Given the description of an element on the screen output the (x, y) to click on. 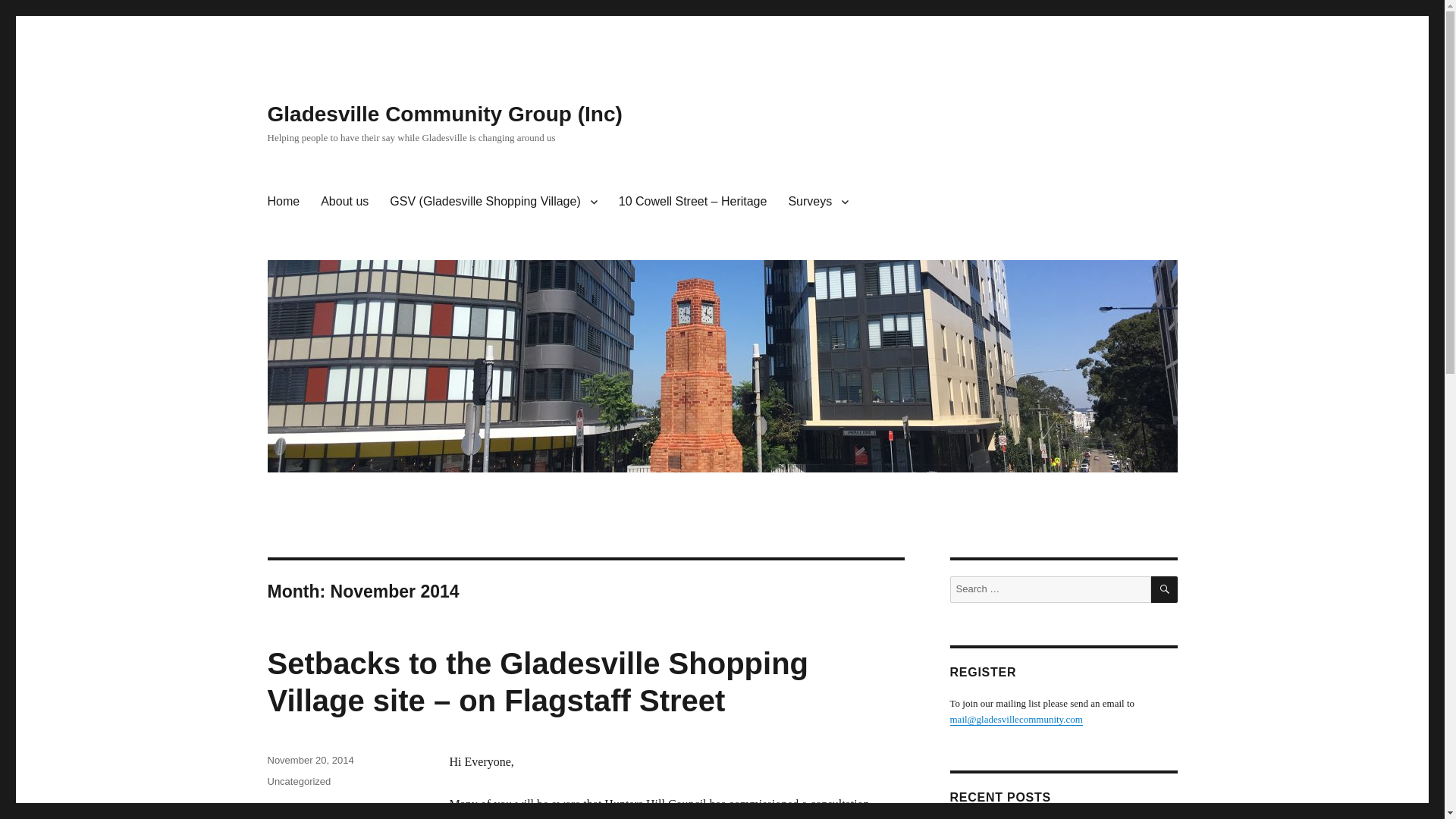
November 20, 2014 (309, 759)
Surveys (818, 201)
Home (283, 201)
About us (344, 201)
Uncategorized (298, 781)
SEARCH (1164, 589)
